Given the description of an element on the screen output the (x, y) to click on. 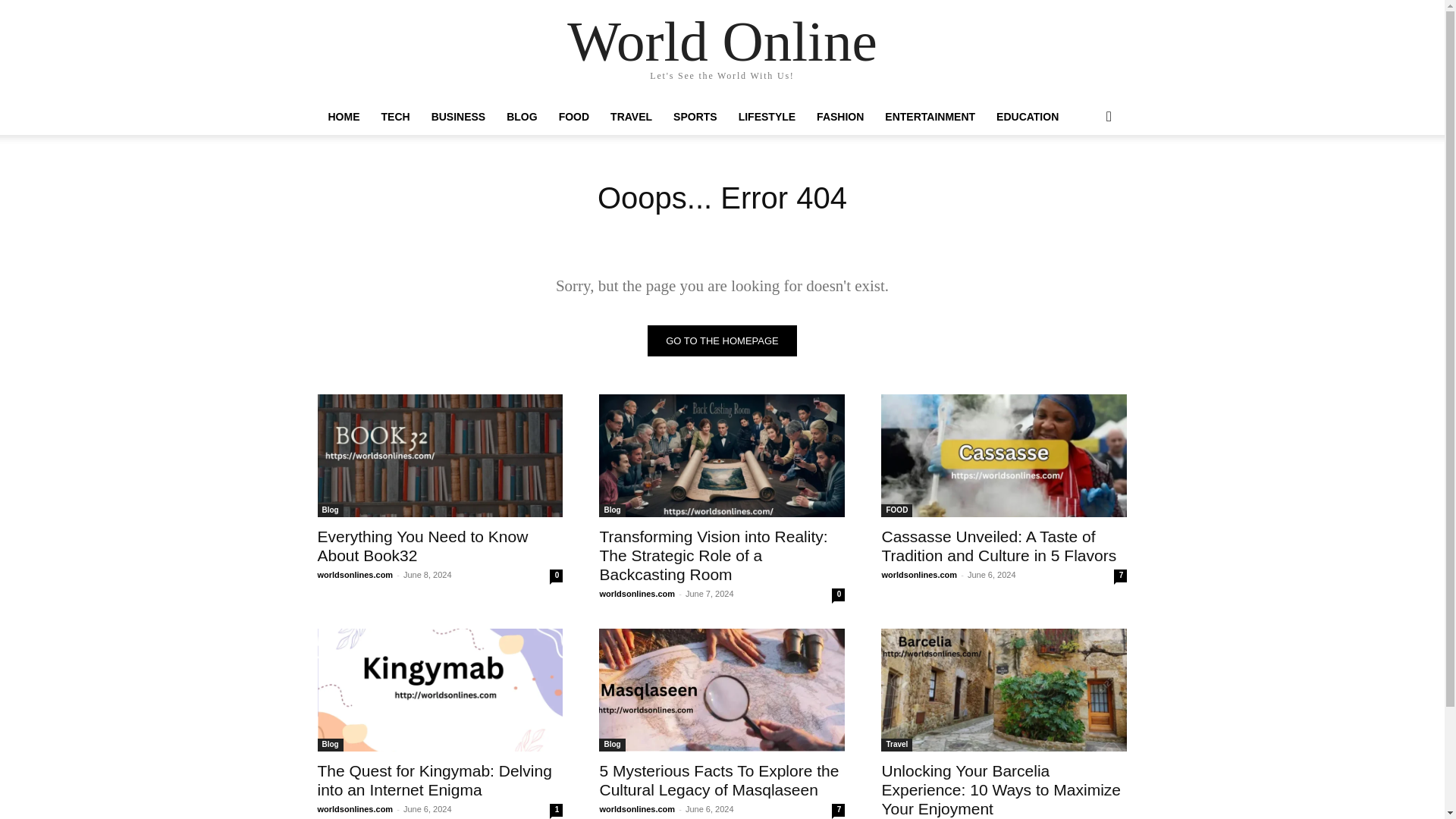
SPORTS (695, 116)
Everything You Need to Know About Book32 (422, 545)
FOOD (573, 116)
Blog (611, 510)
World Online (721, 41)
Search (1085, 177)
TRAVEL (630, 116)
The Quest for Kingymab: Delving into an Internet Enigma (439, 689)
LIFESTYLE (767, 116)
